Given the description of an element on the screen output the (x, y) to click on. 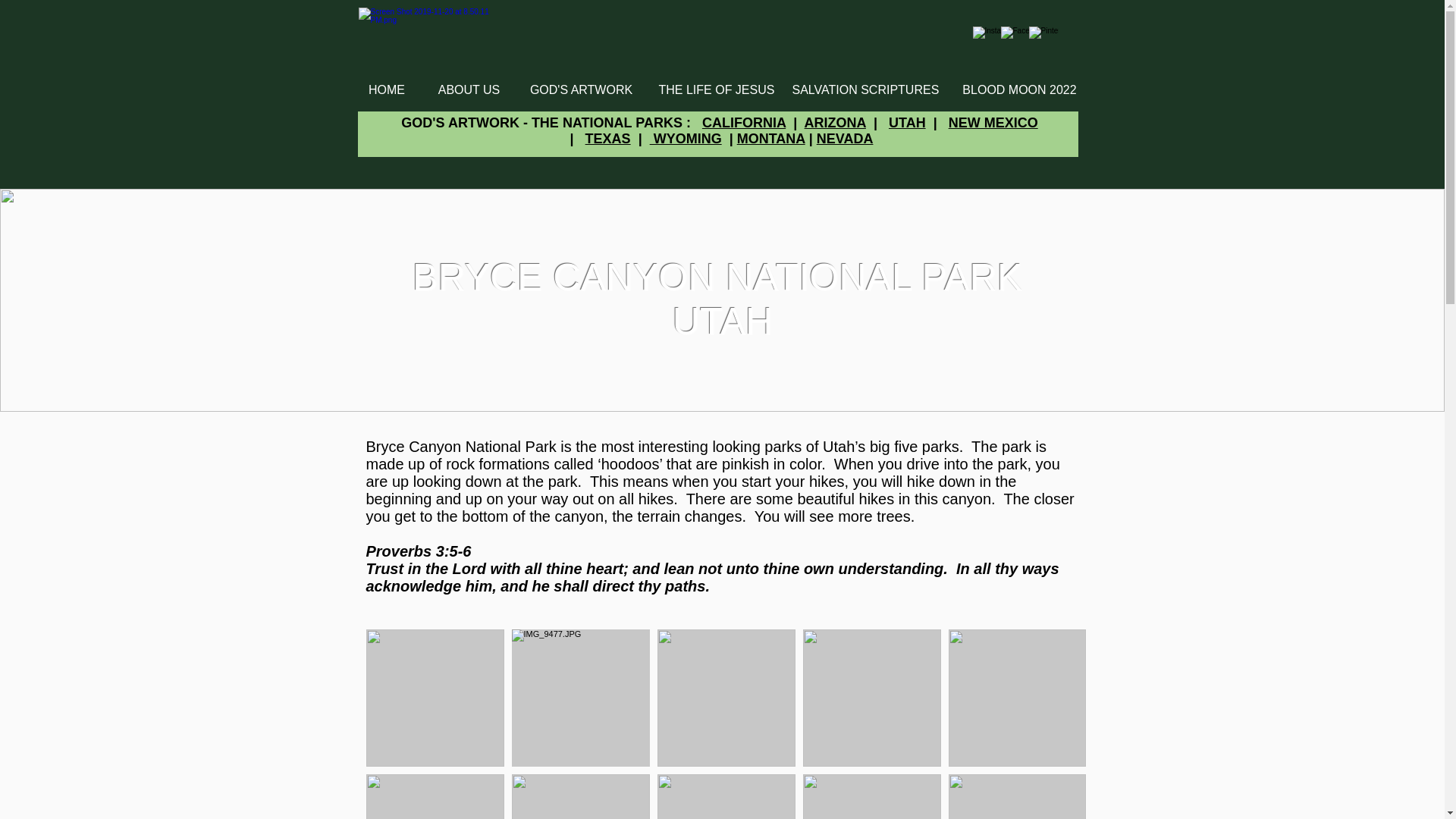
ARIZONA (835, 122)
 WYOMING (685, 138)
THE LIFE OF JESUS (713, 89)
NEW MEXICO (993, 122)
ABOUT US (469, 89)
HOME (386, 89)
BLOOD MOON 2022 (1018, 89)
TEXAS (607, 138)
MONTANA (770, 138)
UTAH (907, 122)
